Given the description of an element on the screen output the (x, y) to click on. 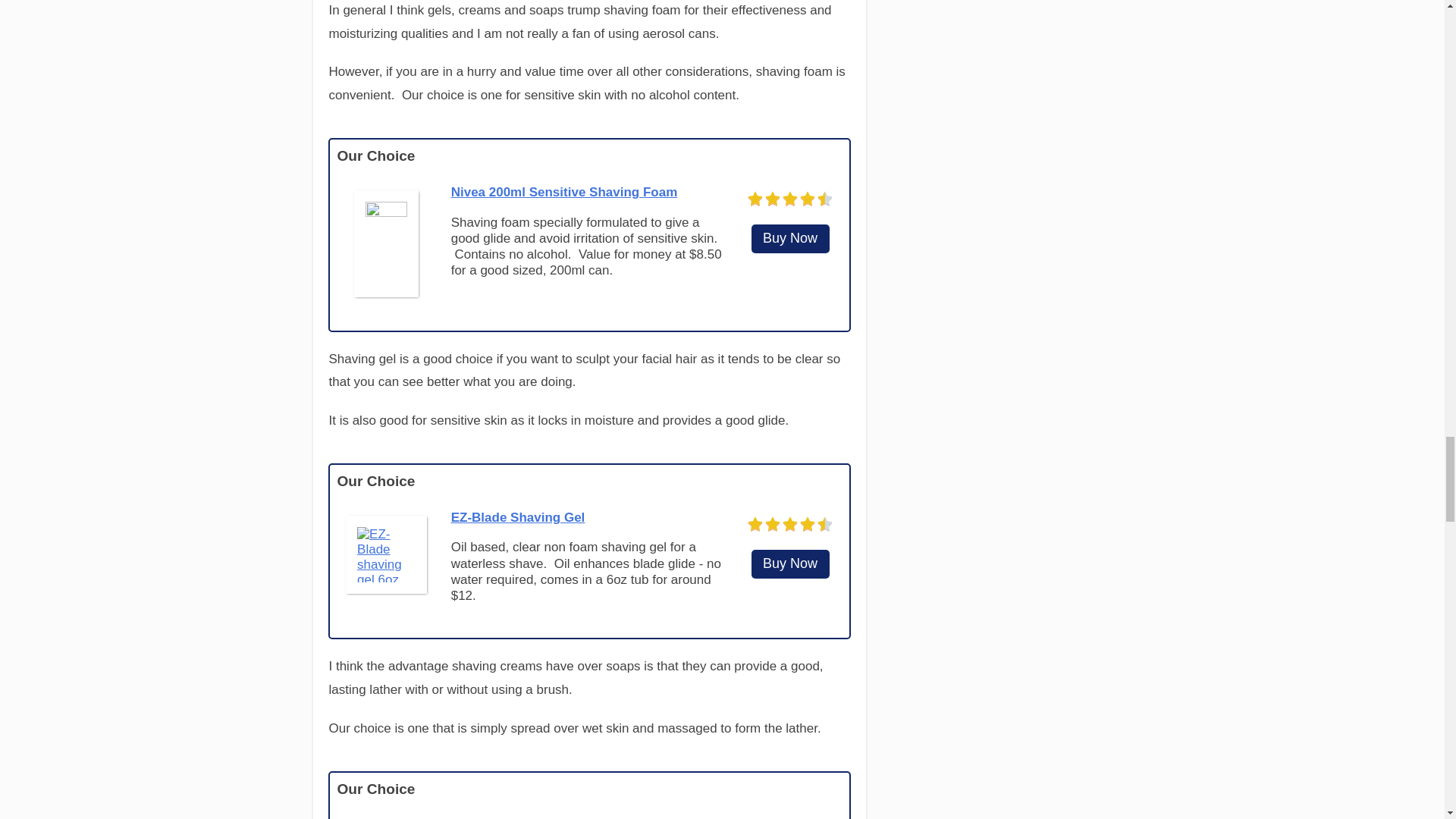
EZ-Blade Shaving Gel 6oz (518, 517)
Nivea Shaving Foam Sensitive Skin 200ml (790, 238)
EZ-Blade Shaving Gel 6oz (385, 554)
EZ-Blade Shaving Gel 6oz (790, 564)
Nivea Shaving Foam Sensitive Skin 200ml (564, 192)
